Given the description of an element on the screen output the (x, y) to click on. 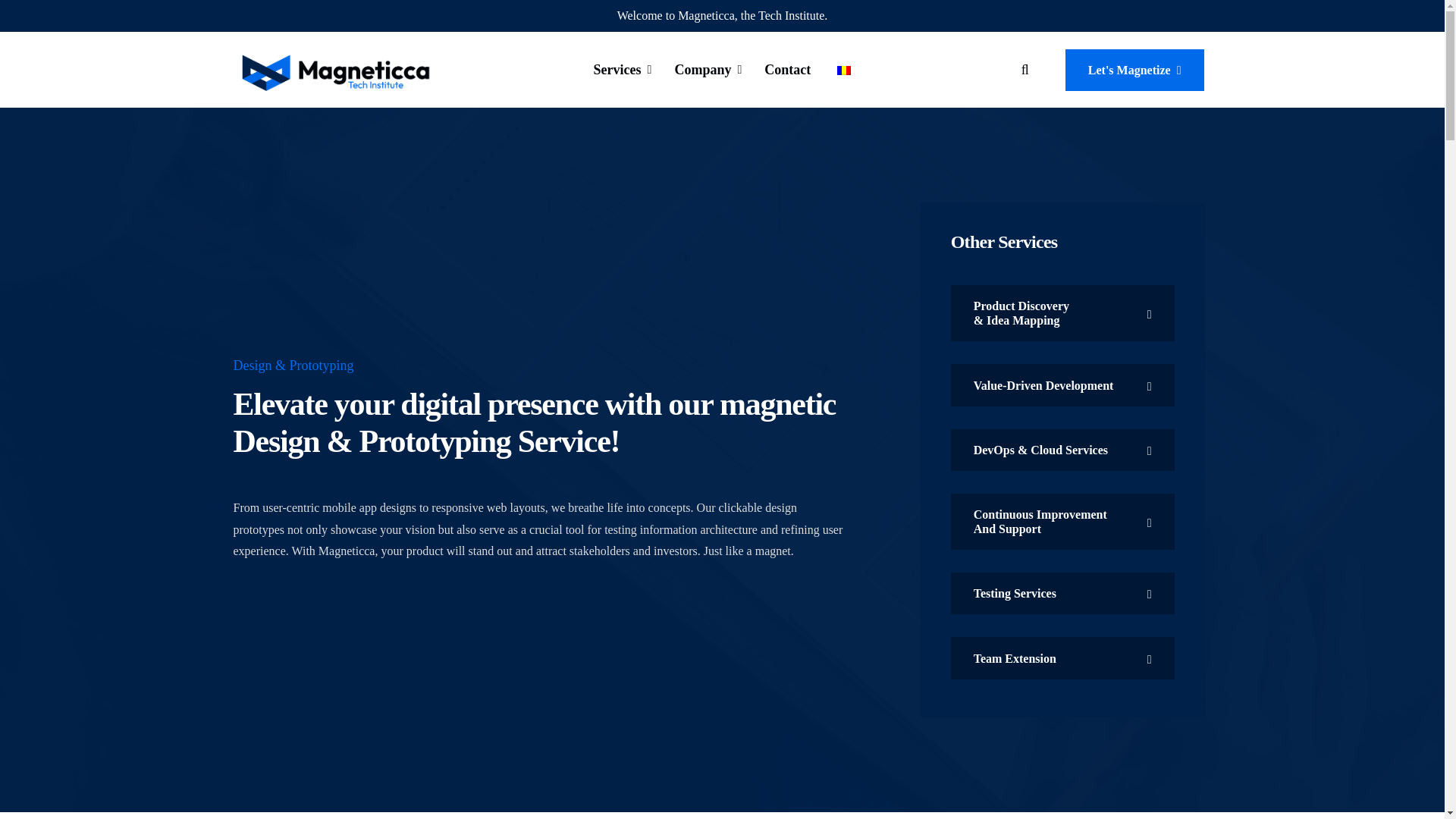
Let'S Magnetize (1134, 69)
Company (707, 69)
Romanian (843, 70)
